Given the description of an element on the screen output the (x, y) to click on. 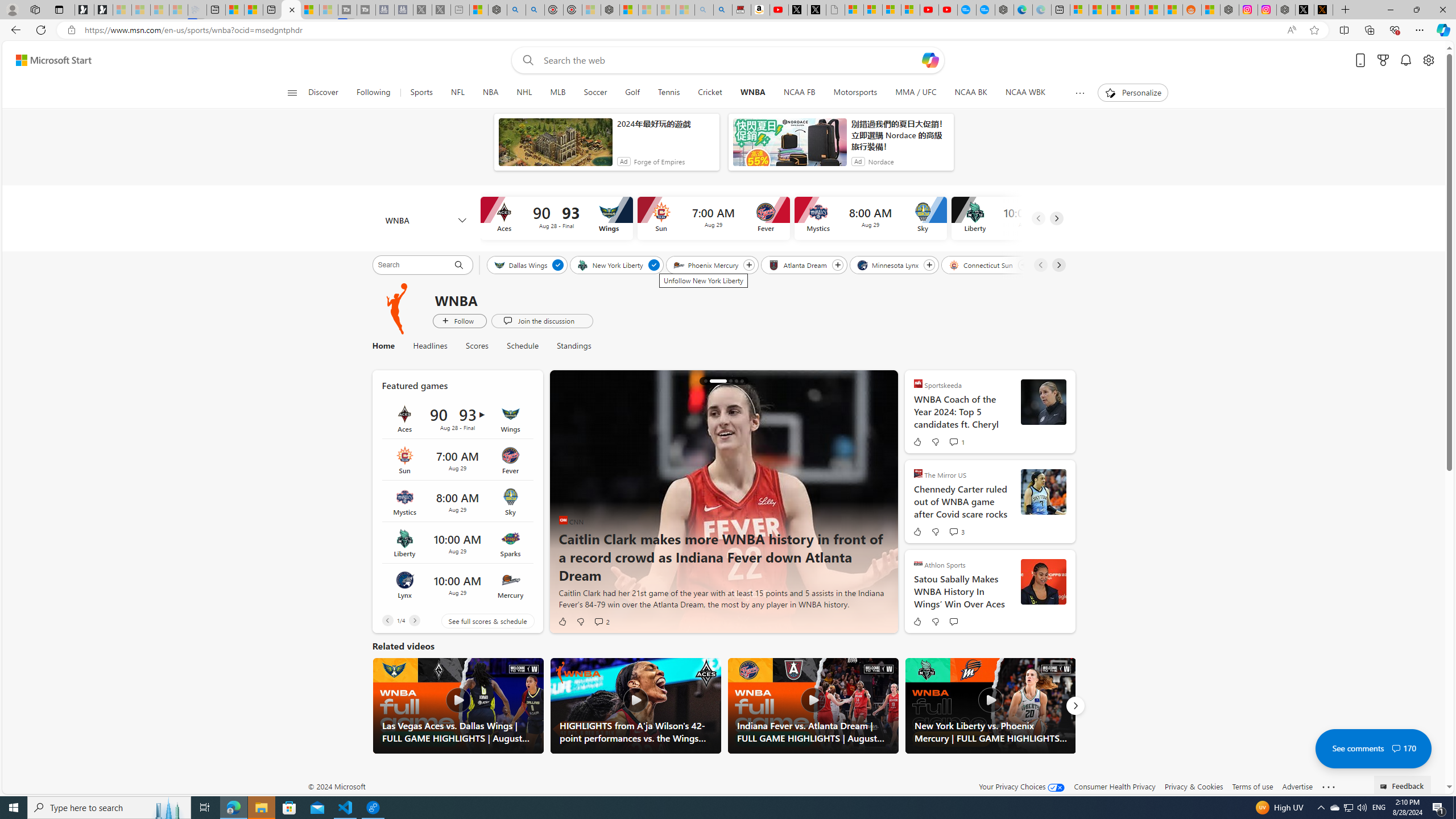
MLB (558, 92)
See more (1328, 787)
Follow Atlanta Dream (837, 265)
NBA (490, 92)
Shanghai, China weather forecast | Microsoft Weather (1098, 9)
Microsoft rewards (1382, 60)
WNBA (752, 92)
Follow Connecticut Sun (1023, 265)
